Given the description of an element on the screen output the (x, y) to click on. 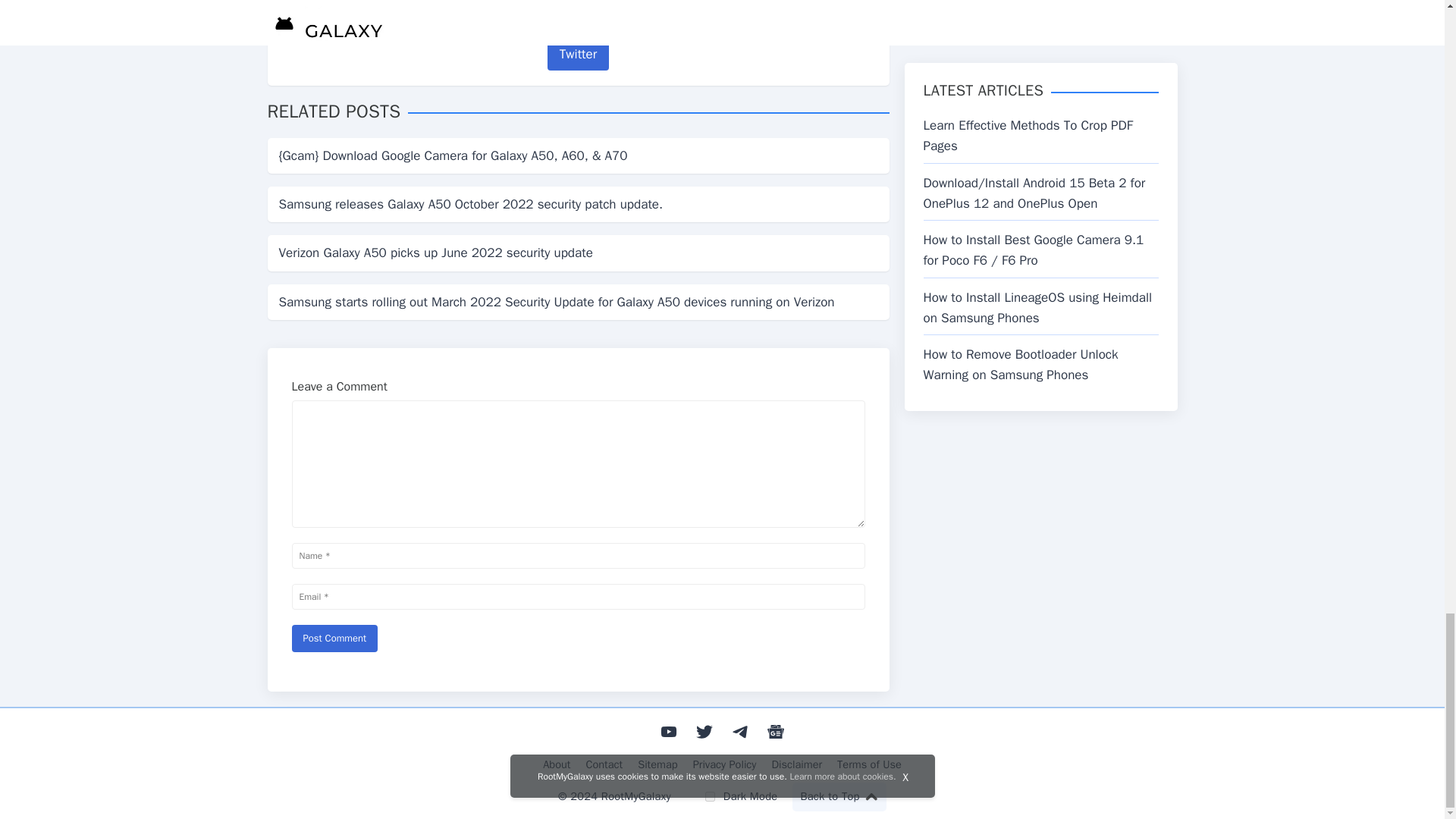
Twitter (577, 53)
on (709, 796)
Post Comment (334, 637)
